Given the description of an element on the screen output the (x, y) to click on. 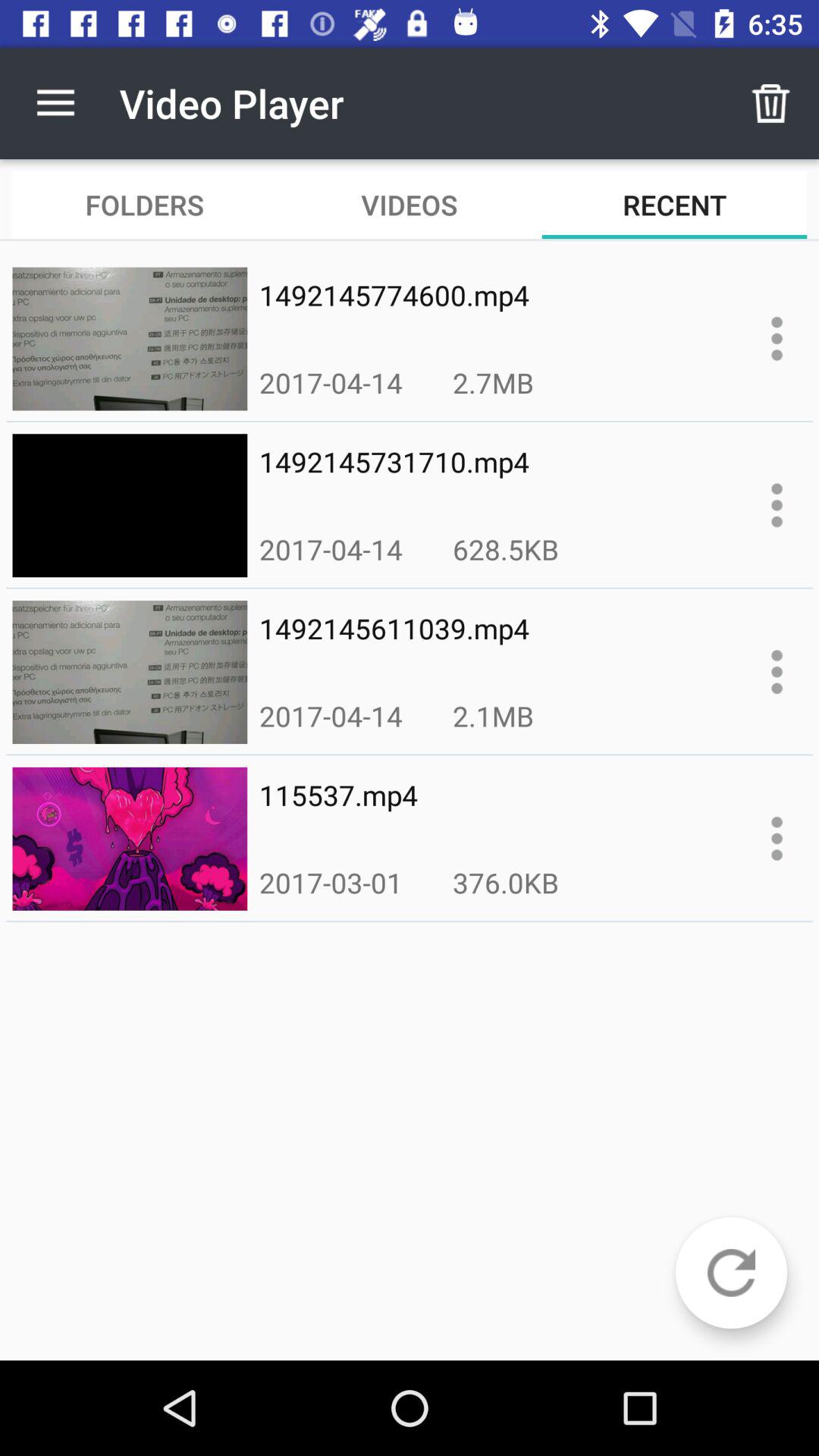
options (776, 838)
